Given the description of an element on the screen output the (x, y) to click on. 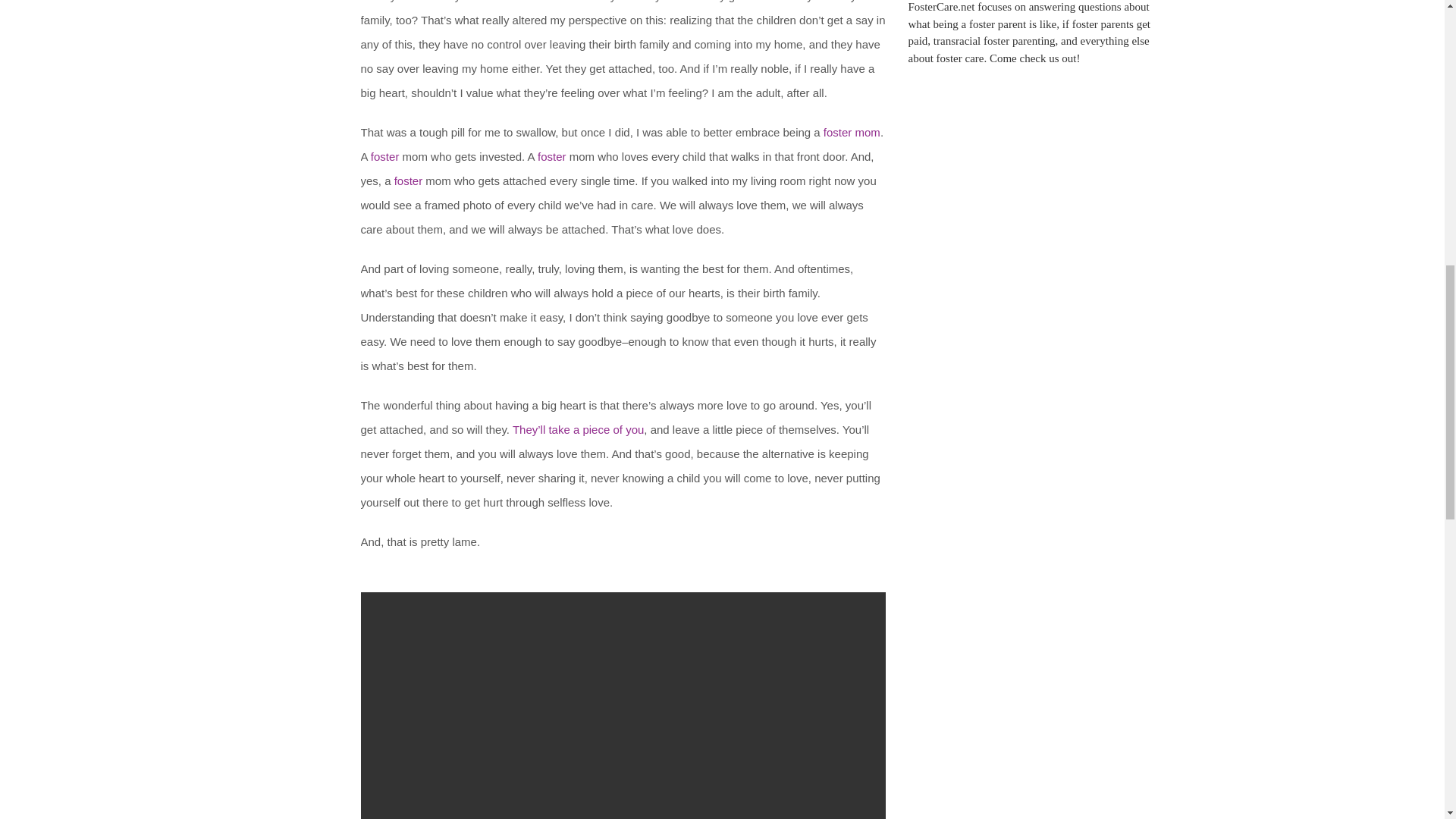
foster (551, 155)
mom (868, 132)
foster (837, 132)
foster (408, 180)
foster (384, 155)
